Given the description of an element on the screen output the (x, y) to click on. 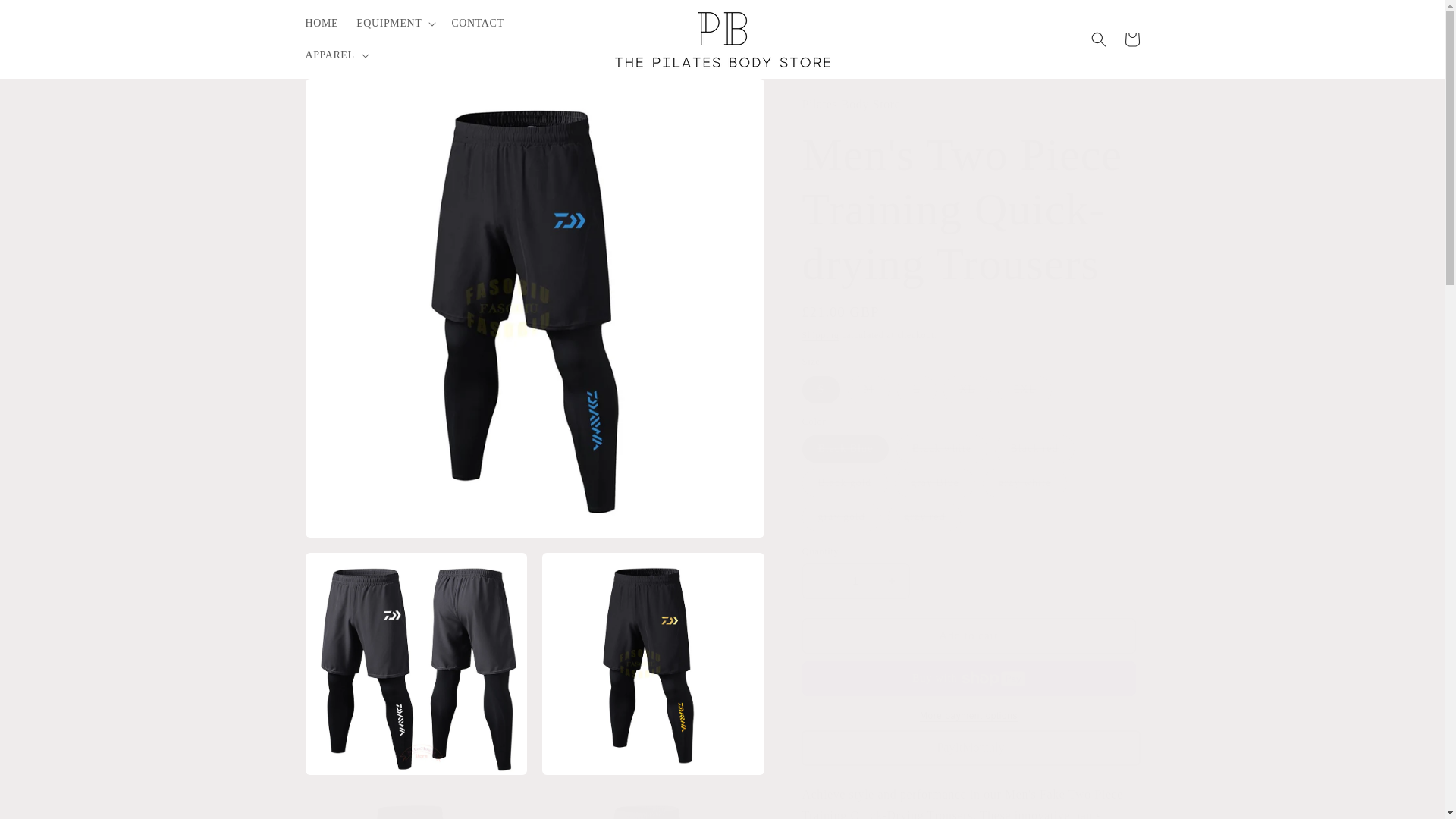
Skip to content (45, 17)
1 (856, 580)
Skip to product information (350, 95)
CONTACT (477, 23)
Open media 4 in modal (415, 804)
Open media 5 in modal (652, 804)
PayItMonthly (971, 747)
